Given the description of an element on the screen output the (x, y) to click on. 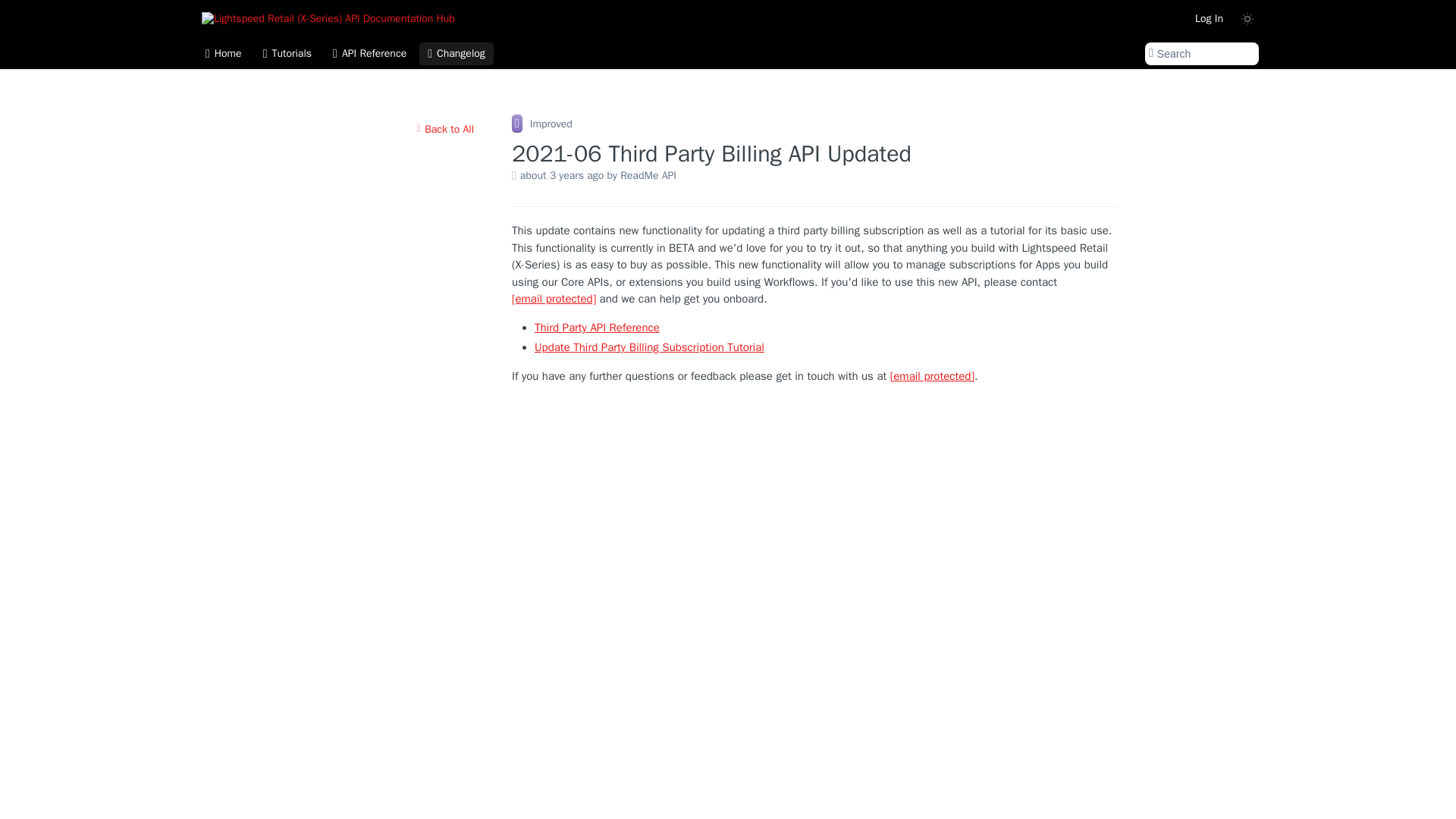
Search (1201, 53)
API Reference (369, 53)
Log In (1208, 18)
Tutorials (287, 53)
Update Third Party Billing Subscription Tutorial (649, 346)
Changelog (456, 53)
Back to All (445, 128)
Home (223, 53)
Third Party API Reference (596, 327)
